Given the description of an element on the screen output the (x, y) to click on. 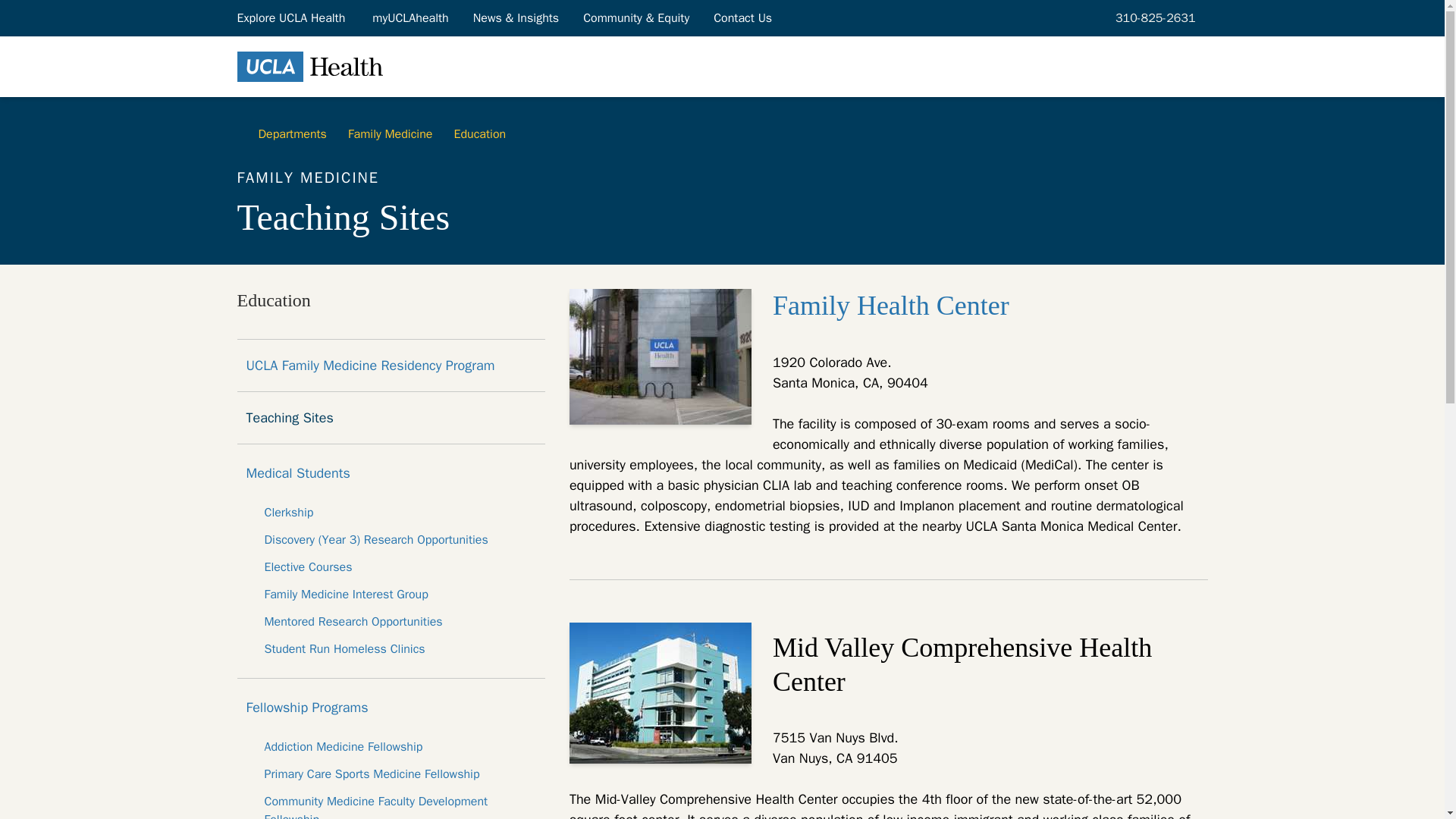
310-825-2631 (1152, 17)
Contact Us (742, 17)
myUCLAhealth (409, 17)
Explore UCLA Health (291, 17)
myUCLAhealth Login. (409, 17)
